Given the description of an element on the screen output the (x, y) to click on. 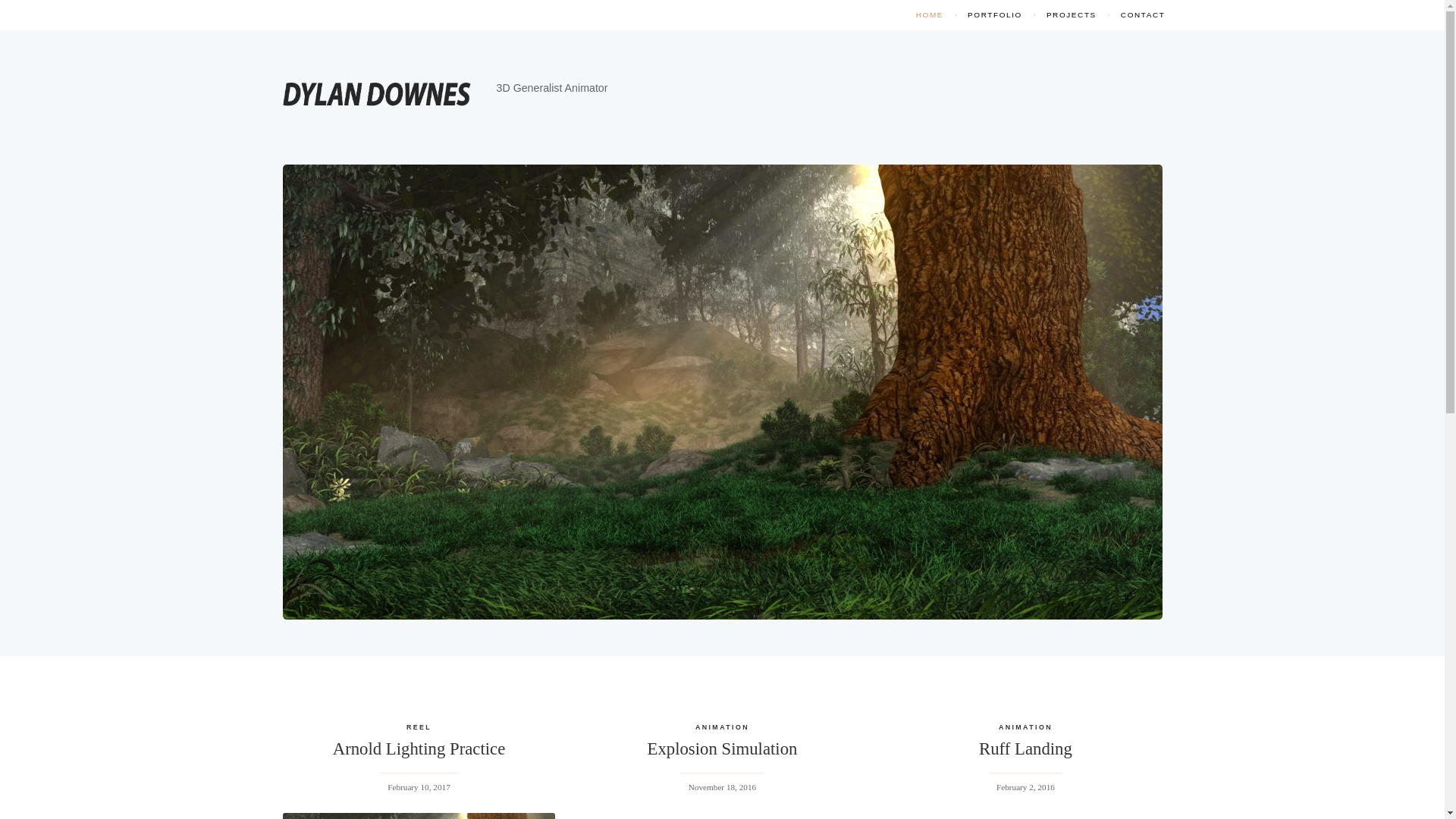
DEMO REEL (915, 47)
MARTIN LUTHER KING DOCUMENTARY (1070, 46)
SUFFIELD ACADEMY TOUR (1070, 77)
HAMSTER FILM (915, 109)
ABOUT ME (929, 46)
PROJECTS (929, 77)
RUFF LANDING (915, 78)
CONTACT PAGE (929, 108)
PORTFOLIO (994, 15)
REEL (418, 727)
February 10, 2017 (418, 787)
HOME (929, 15)
PROJECTS (1070, 15)
LIVE ACTION (994, 77)
ANIMATION (994, 46)
